Given the description of an element on the screen output the (x, y) to click on. 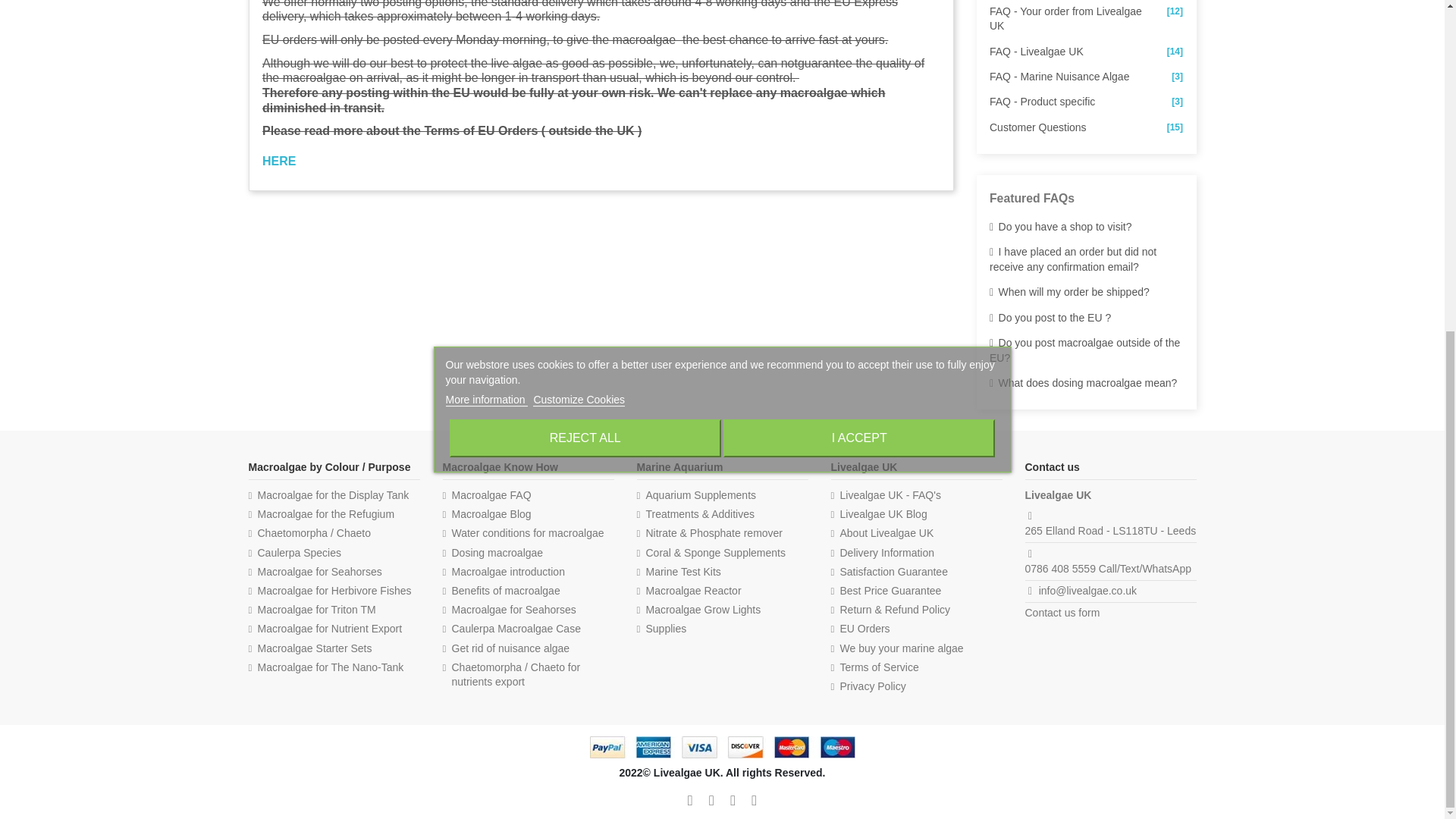
Benefits of macroalgae in the Marine Aquarium (501, 590)
Introduction to Marine Macroalgae (503, 572)
